Given the description of an element on the screen output the (x, y) to click on. 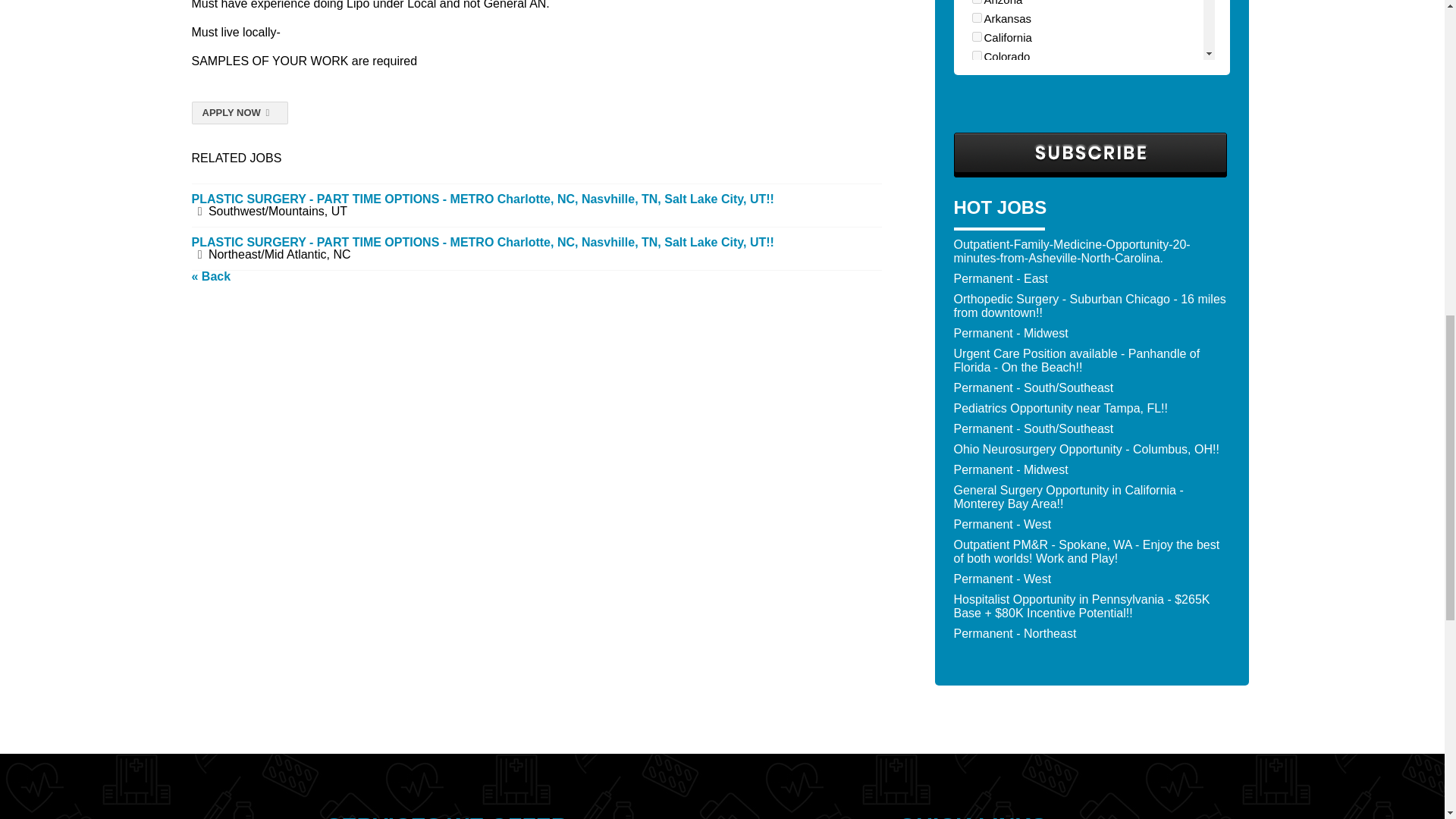
64 (976, 19)
65 (976, 2)
